Given the description of an element on the screen output the (x, y) to click on. 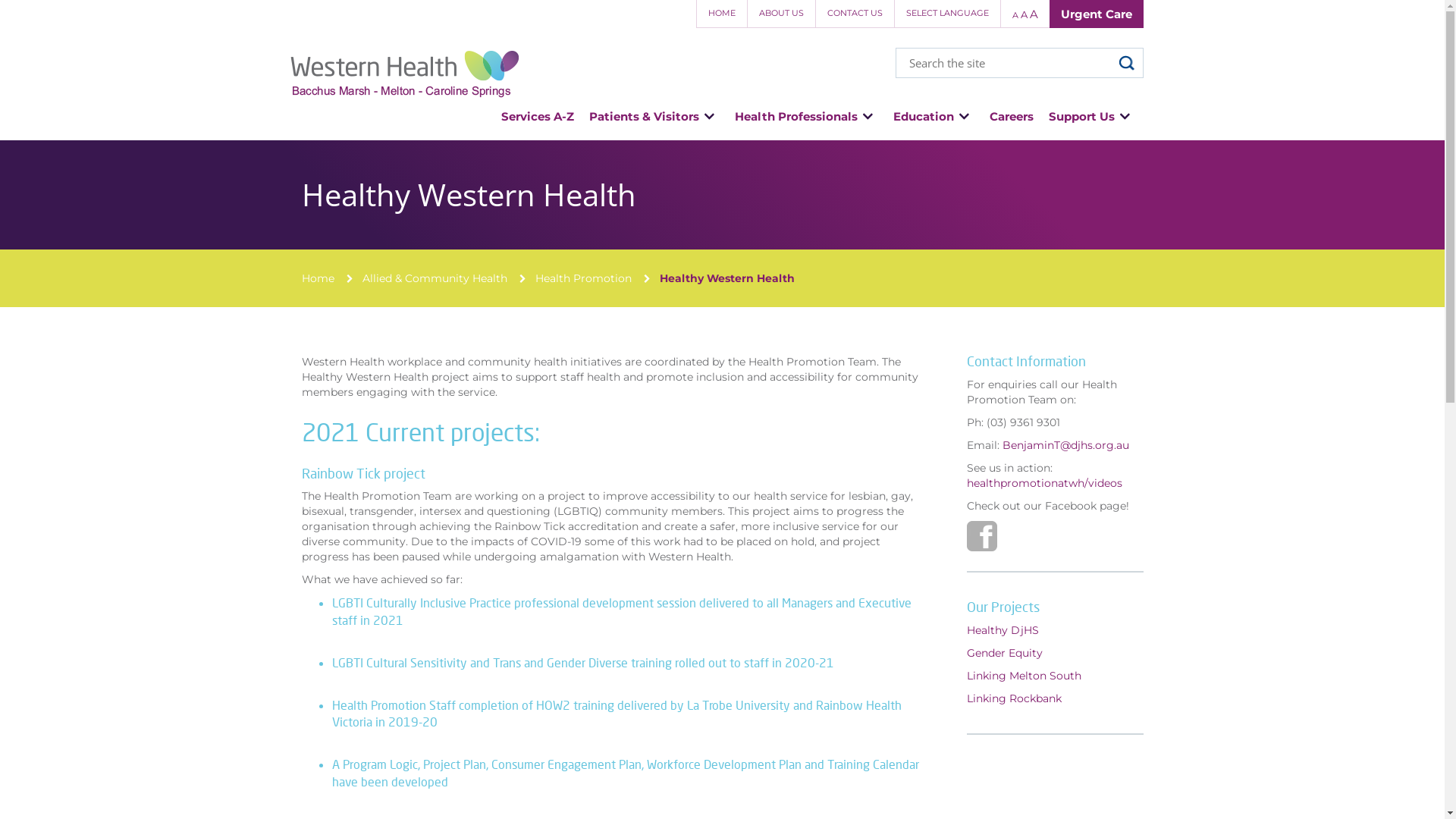
search Element type: text (1126, 63)
HOME Element type: text (721, 14)
CONTACT US Element type: text (853, 14)
BenjaminT@djhs.org.au Element type: text (1065, 444)
Allied & Community Health Element type: text (434, 278)
Education Element type: text (933, 116)
Healthy DjHS Element type: text (1002, 630)
Health Professionals Element type: text (806, 116)
Urgent Care Element type: text (1096, 14)
Home Element type: text (317, 278)
healthpromotionatwh/videos Element type: text (1044, 482)
Support Us Element type: text (1091, 116)
Gender Equity Element type: text (1004, 652)
SELECT LANGUAGE Element type: text (946, 14)
ABOUT US Element type: text (780, 14)
A A A Element type: text (1023, 14)
Patients & Visitors Element type: text (653, 116)
Services A-Z Element type: text (536, 116)
Health Promotion Element type: text (583, 278)
Linking Rockbank Element type: text (1013, 698)
Careers Element type: text (1011, 116)
Linking Melton South  Element type: text (1025, 675)
